Given the description of an element on the screen output the (x, y) to click on. 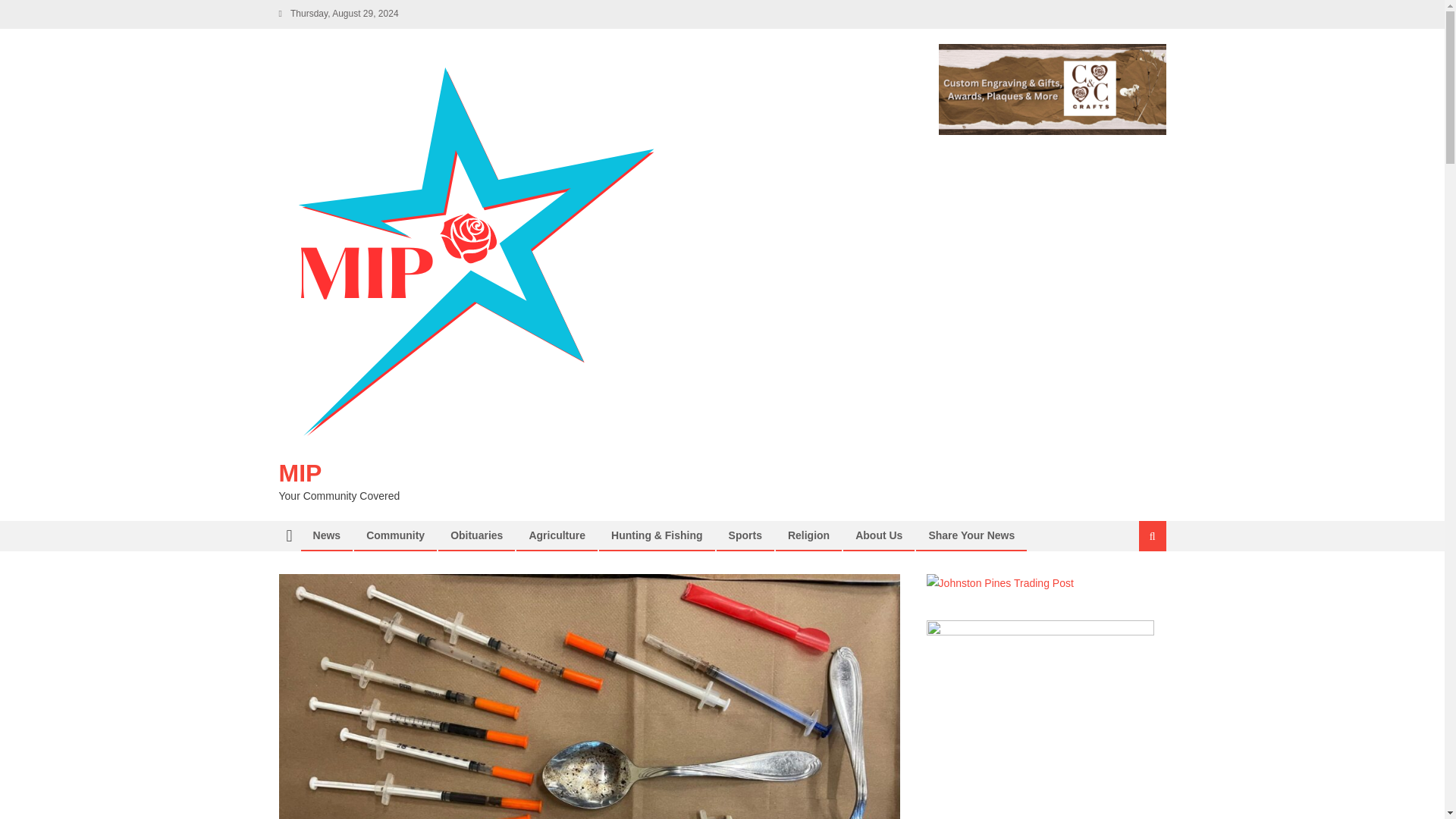
Obituaries (476, 534)
About Us (879, 534)
News (326, 534)
Community (395, 534)
Agriculture (556, 534)
Share Your News (971, 534)
Religion (808, 534)
Search (1133, 586)
MIP (300, 472)
Sports (745, 534)
